Given the description of an element on the screen output the (x, y) to click on. 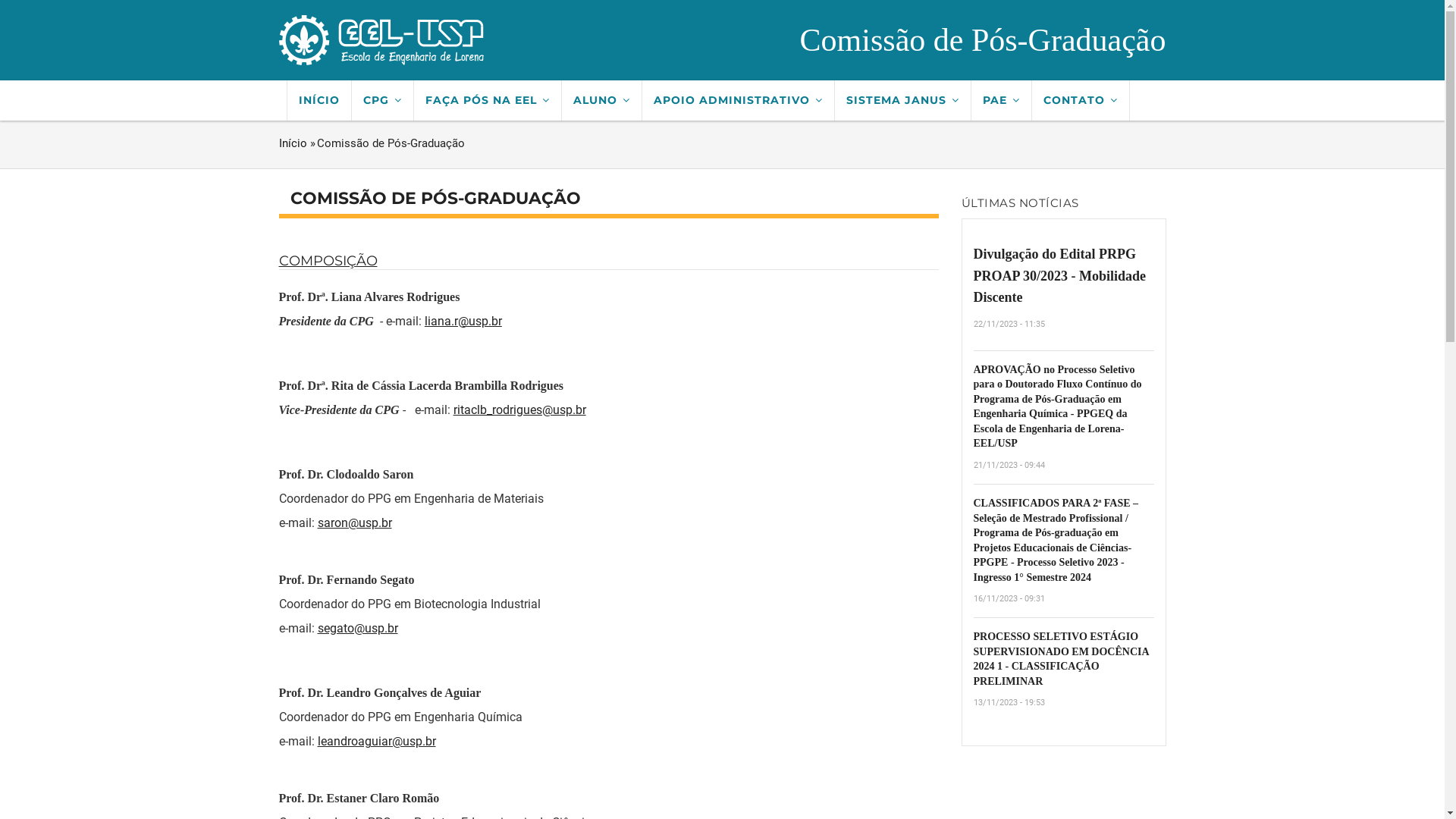
ritaclb_rodrigues@usp.br Element type: text (519, 409)
liana.r@usp.br Element type: text (463, 320)
leandroaguiar@usp.br Element type: text (375, 741)
ALUNO Element type: text (601, 100)
CPG Element type: text (382, 100)
PAE Element type: text (1000, 100)
segato@usp.br Element type: text (356, 628)
SISTEMA JANUS Element type: text (902, 100)
saron@usp.br Element type: text (353, 522)
CONTATO Element type: text (1080, 100)
APOIO ADMINISTRATIVO Element type: text (737, 100)
